Given the description of an element on the screen output the (x, y) to click on. 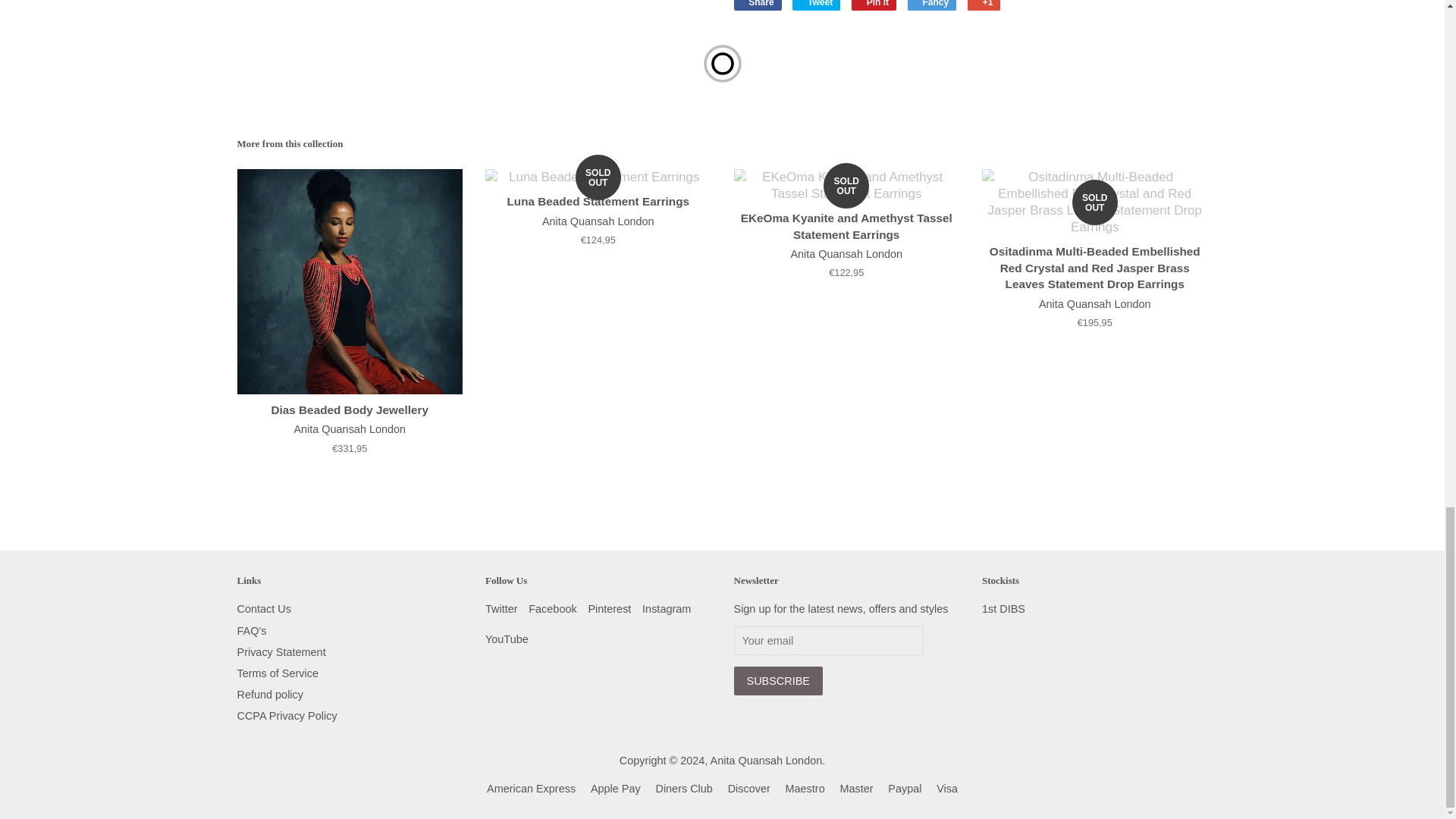
Anita Quansah London on Twitter (501, 608)
Anita Quansah London on YouTube (506, 639)
Pin on Pinterest (873, 5)
Anita Quansah London on Pinterest (609, 608)
Anita Quansah London on Instagram (666, 608)
Tweet on Twitter (816, 5)
Add to Fancy (931, 5)
Subscribe (777, 681)
Anita Quansah London on Facebook (552, 608)
Share on Facebook (757, 5)
